Given the description of an element on the screen output the (x, y) to click on. 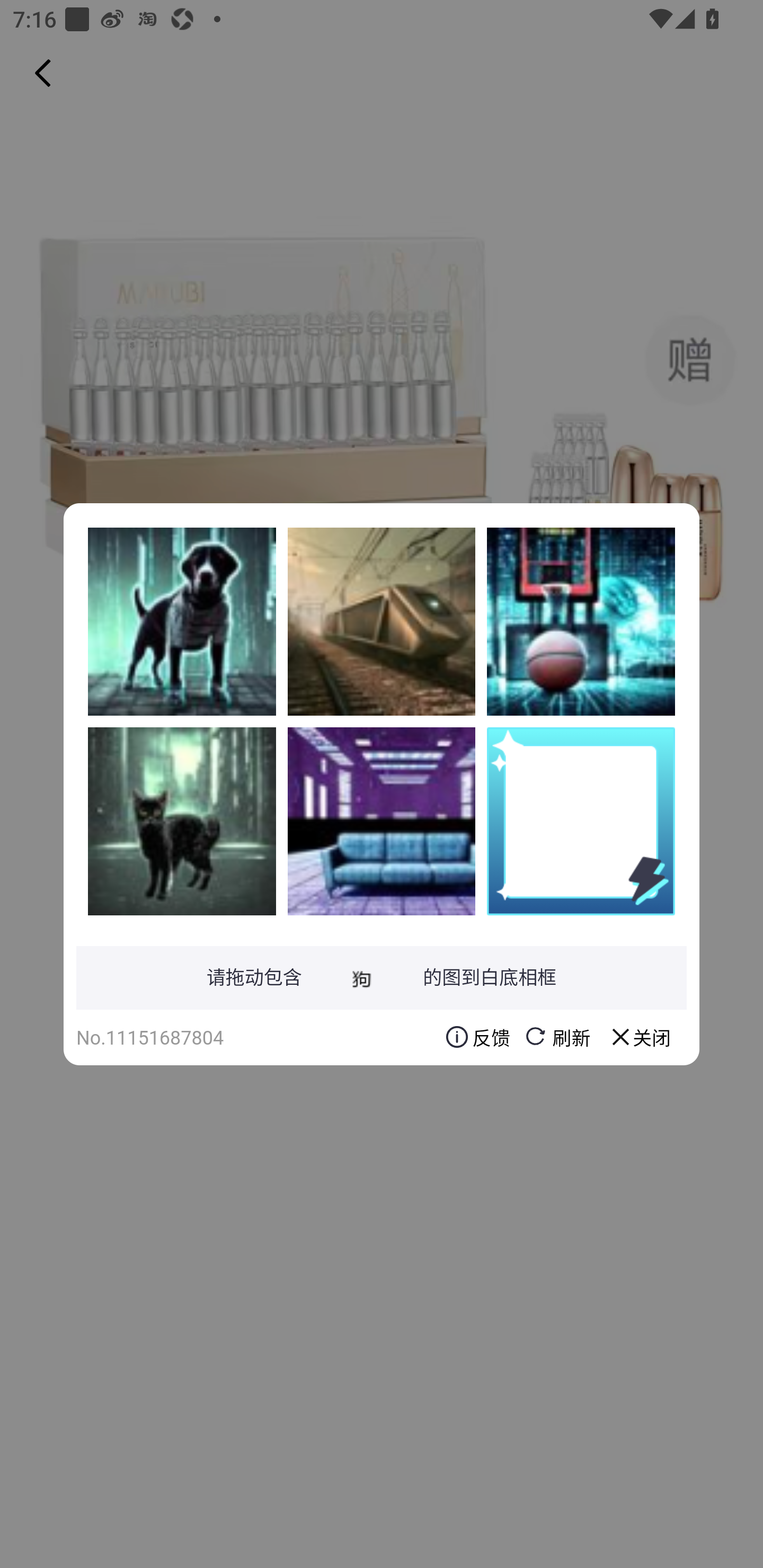
bgtxTO7Do5D (181, 621)
k (381, 621)
1DqB40h0imAajtf+jj70s83nGapiE (580, 621)
YAcrZS (381, 820)
